Given the description of an element on the screen output the (x, y) to click on. 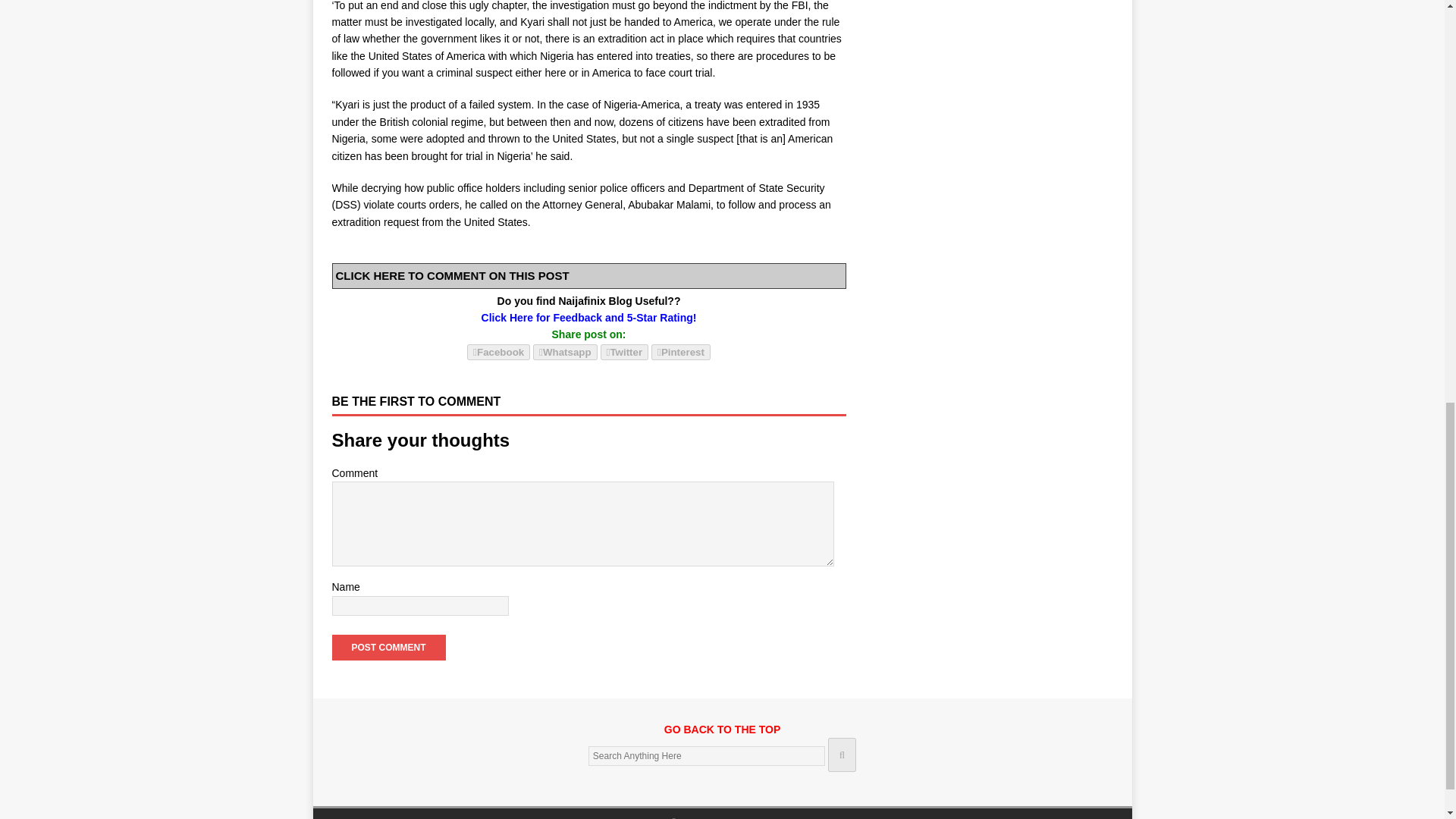
Post Comment (388, 647)
GO BACK TO THE TOP (722, 736)
Click Here for Feedback and 5-Star Rating! (589, 317)
Facebook (498, 351)
CLICK HERE TO COMMENT ON THIS POST (451, 275)
Whatsapp (564, 351)
Twitter (624, 351)
Twitter (624, 351)
Whatsapp (564, 351)
Pinterest (680, 351)
Post Comment (388, 647)
Pinterest (680, 351)
Facebook (498, 351)
